Given the description of an element on the screen output the (x, y) to click on. 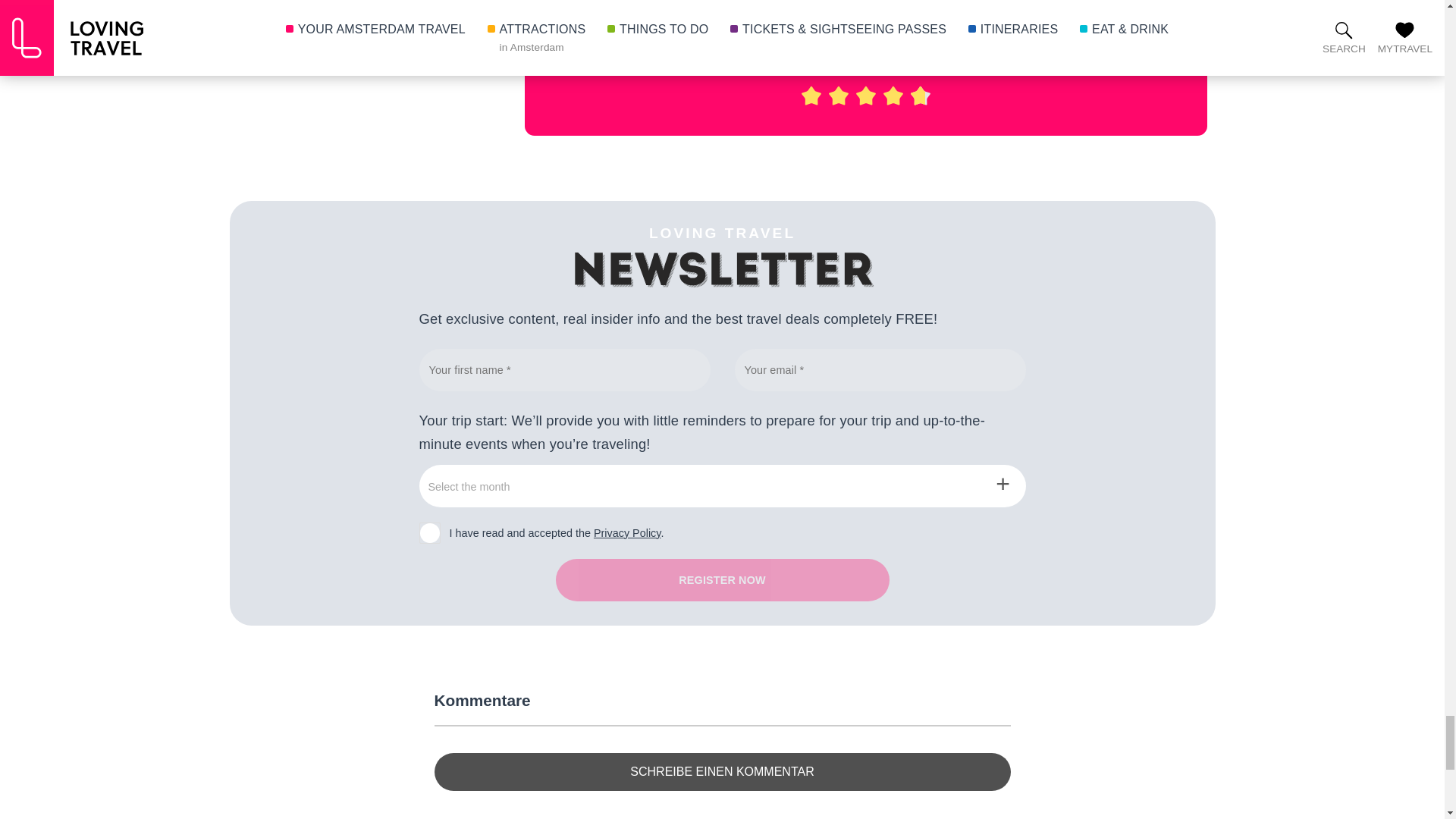
Register now (721, 579)
